Given the description of an element on the screen output the (x, y) to click on. 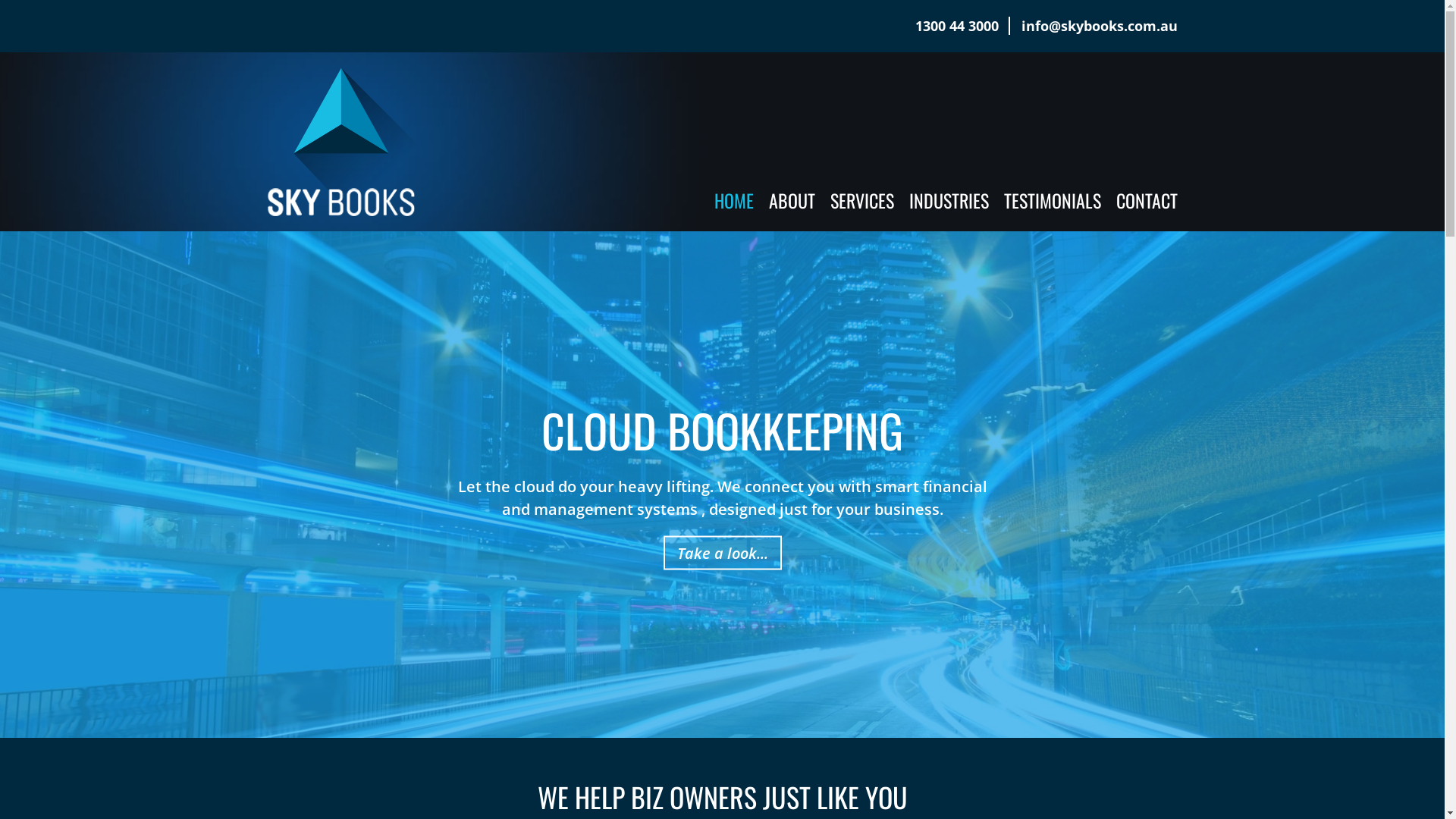
HOME Element type: text (733, 200)
ABOUT Element type: text (791, 200)
Sky Books Element type: hover (341, 140)
1300 44 3000 Element type: text (955, 25)
CONTACT Element type: text (1146, 200)
SERVICES Element type: text (861, 200)
TESTIMONIALS Element type: text (1052, 200)
Take a look... Element type: text (721, 552)
INDUSTRIES Element type: text (948, 200)
info@skybooks.com.au Element type: text (1098, 25)
